Given the description of an element on the screen output the (x, y) to click on. 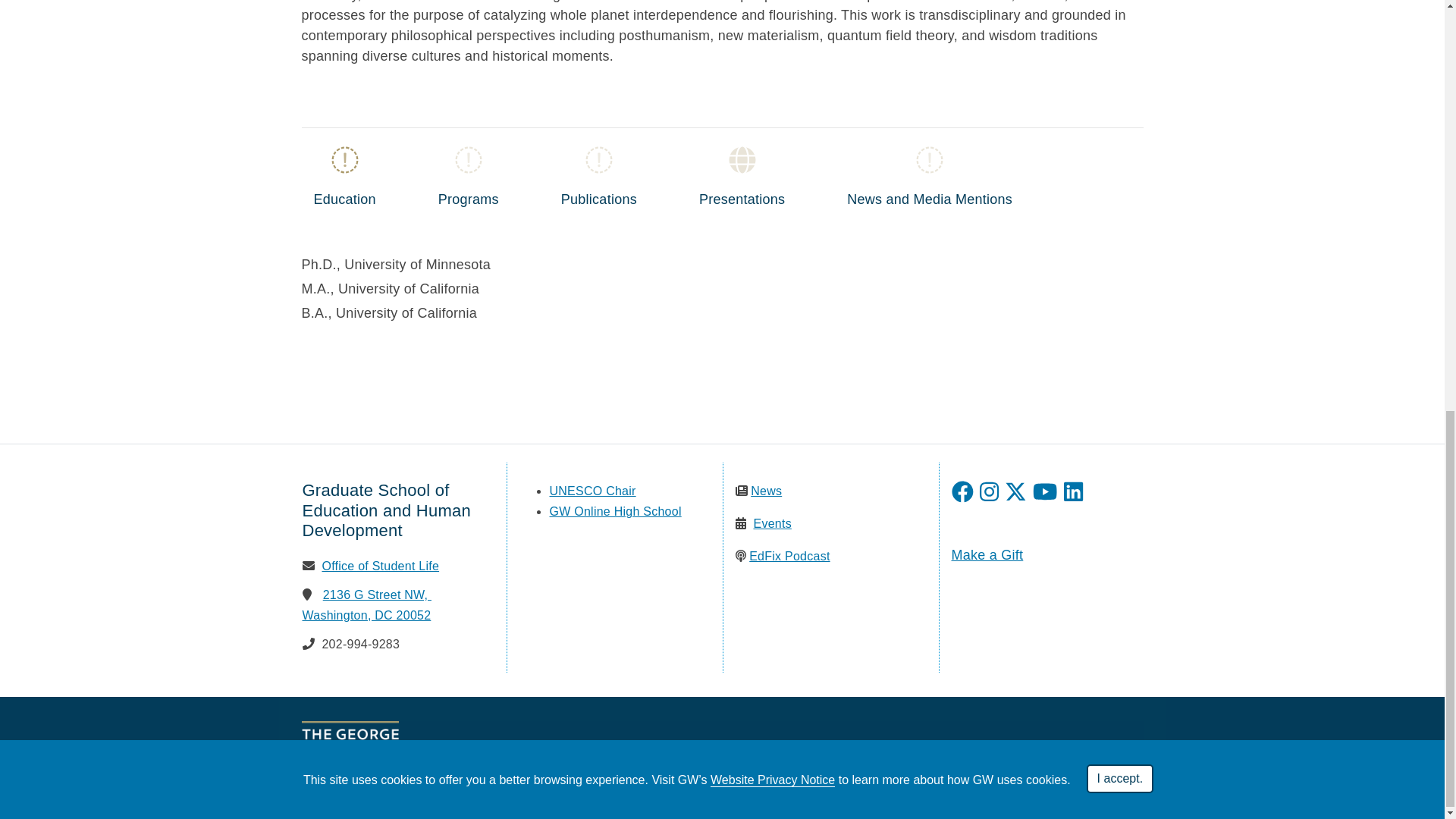
News (766, 490)
Twitter (1015, 491)
Events (771, 522)
EdFix Podcast (789, 555)
Facebook (961, 491)
Make a Gift (986, 554)
